Given the description of an element on the screen output the (x, y) to click on. 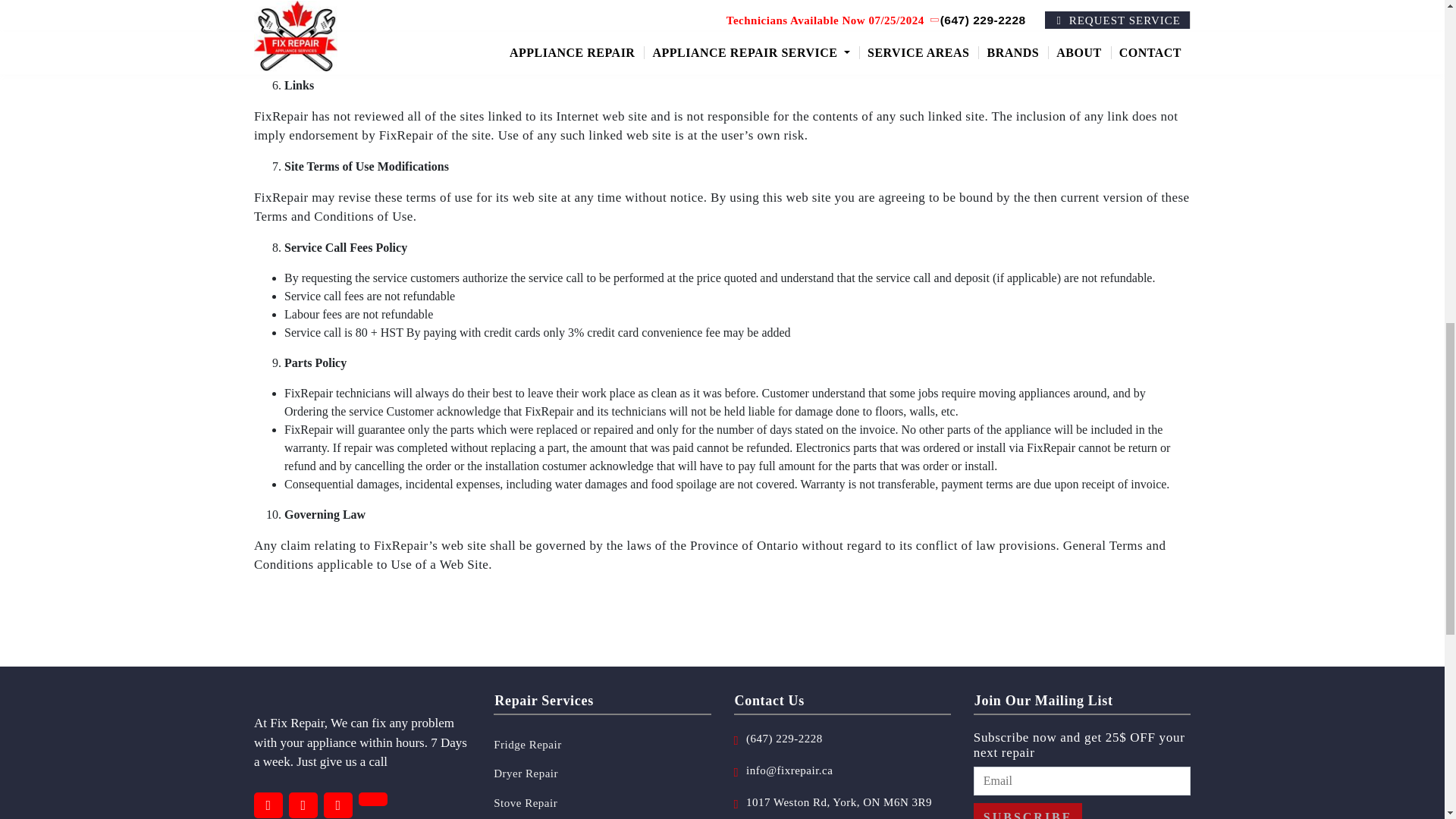
SUBSCRIBE (1028, 811)
